Given the description of an element on the screen output the (x, y) to click on. 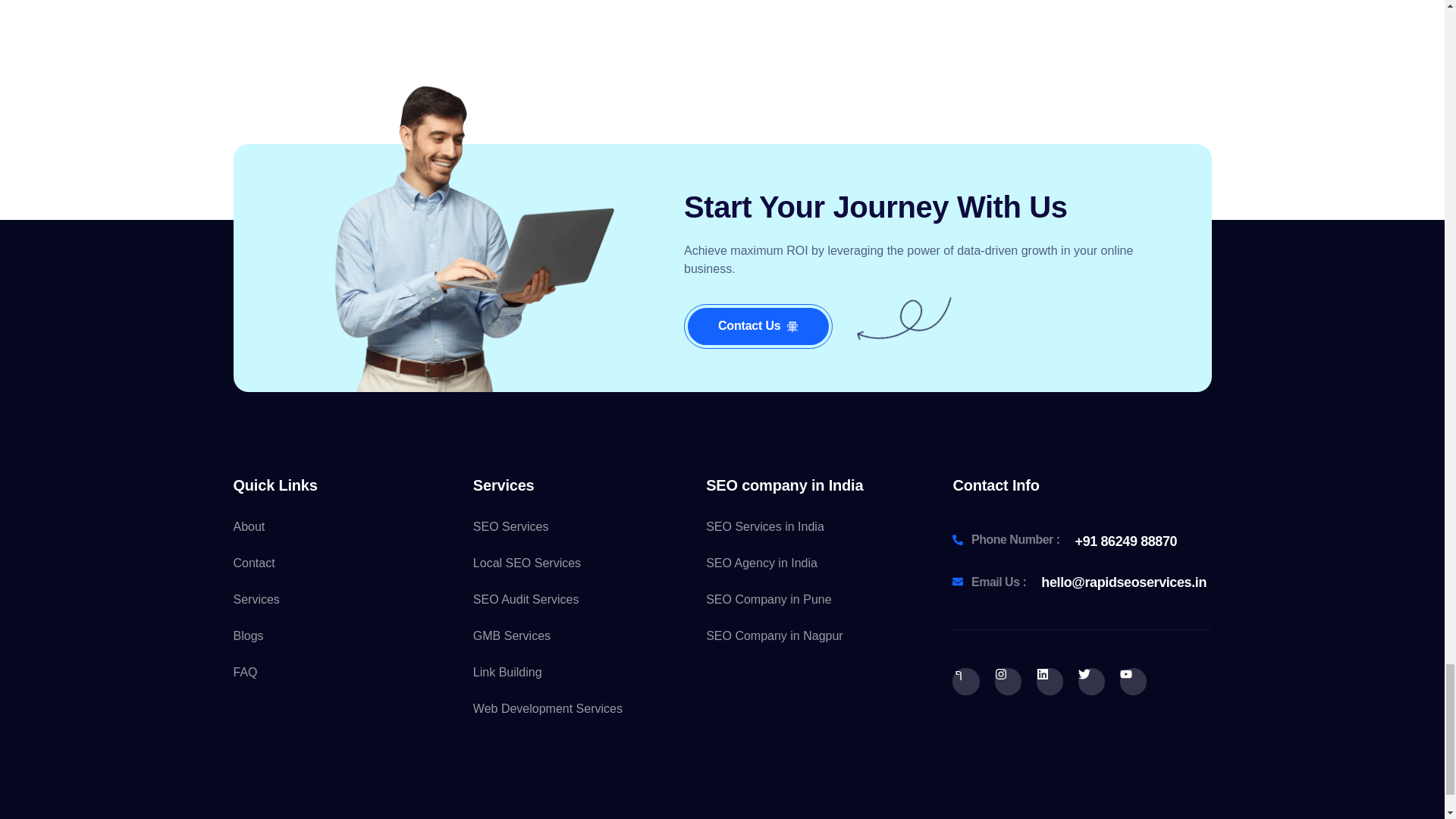
SEO Agency in India (814, 563)
SEO Company in Pune (814, 599)
GMB Services (581, 636)
Services (348, 599)
Web Development Services (581, 709)
About (348, 526)
Local SEO Services (581, 563)
SEO Services in India (814, 526)
SEO Company in Nagpur (814, 636)
Contact (348, 563)
